Given the description of an element on the screen output the (x, y) to click on. 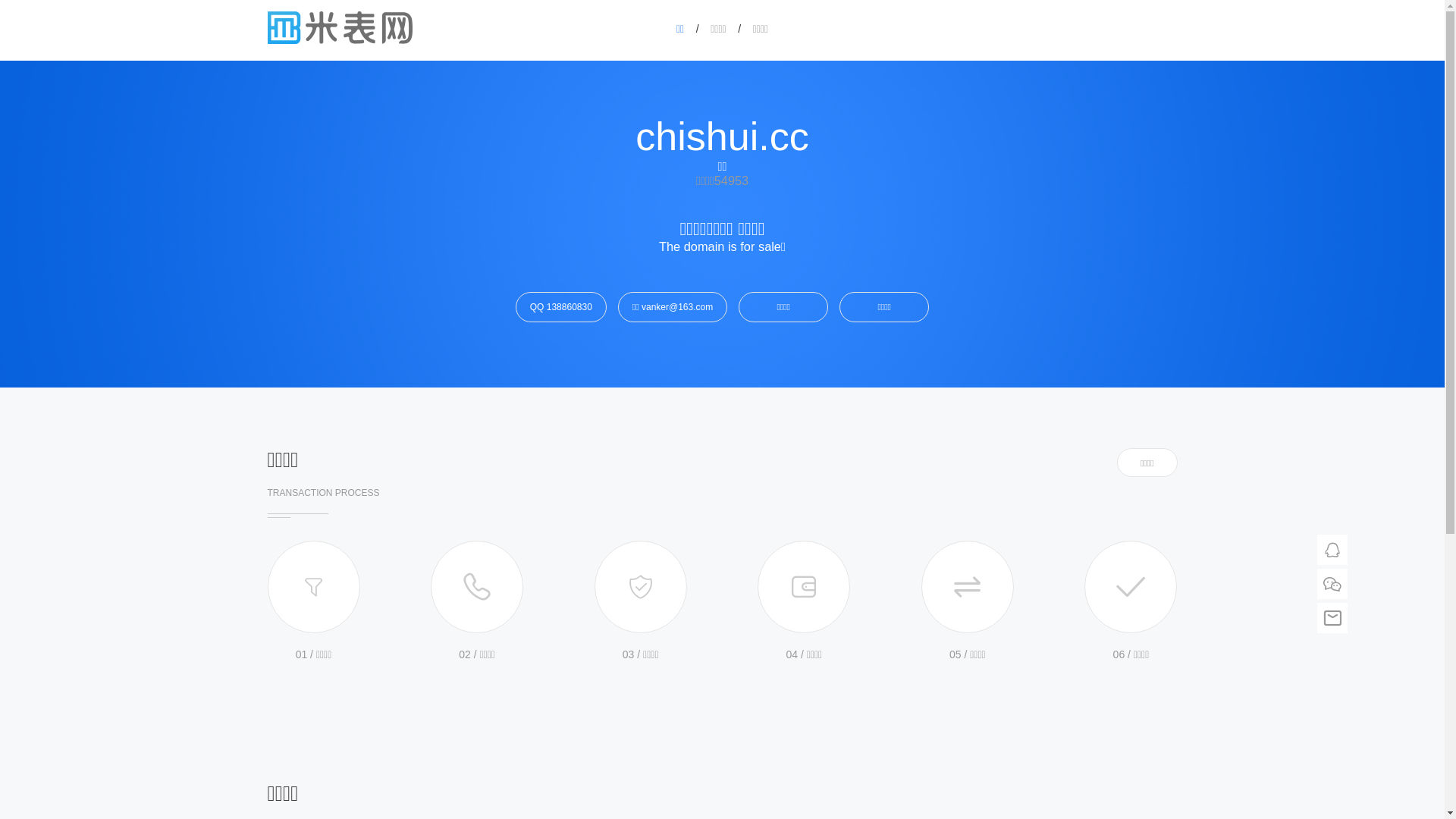
QQ 138860830 Element type: text (560, 306)
